Given the description of an element on the screen output the (x, y) to click on. 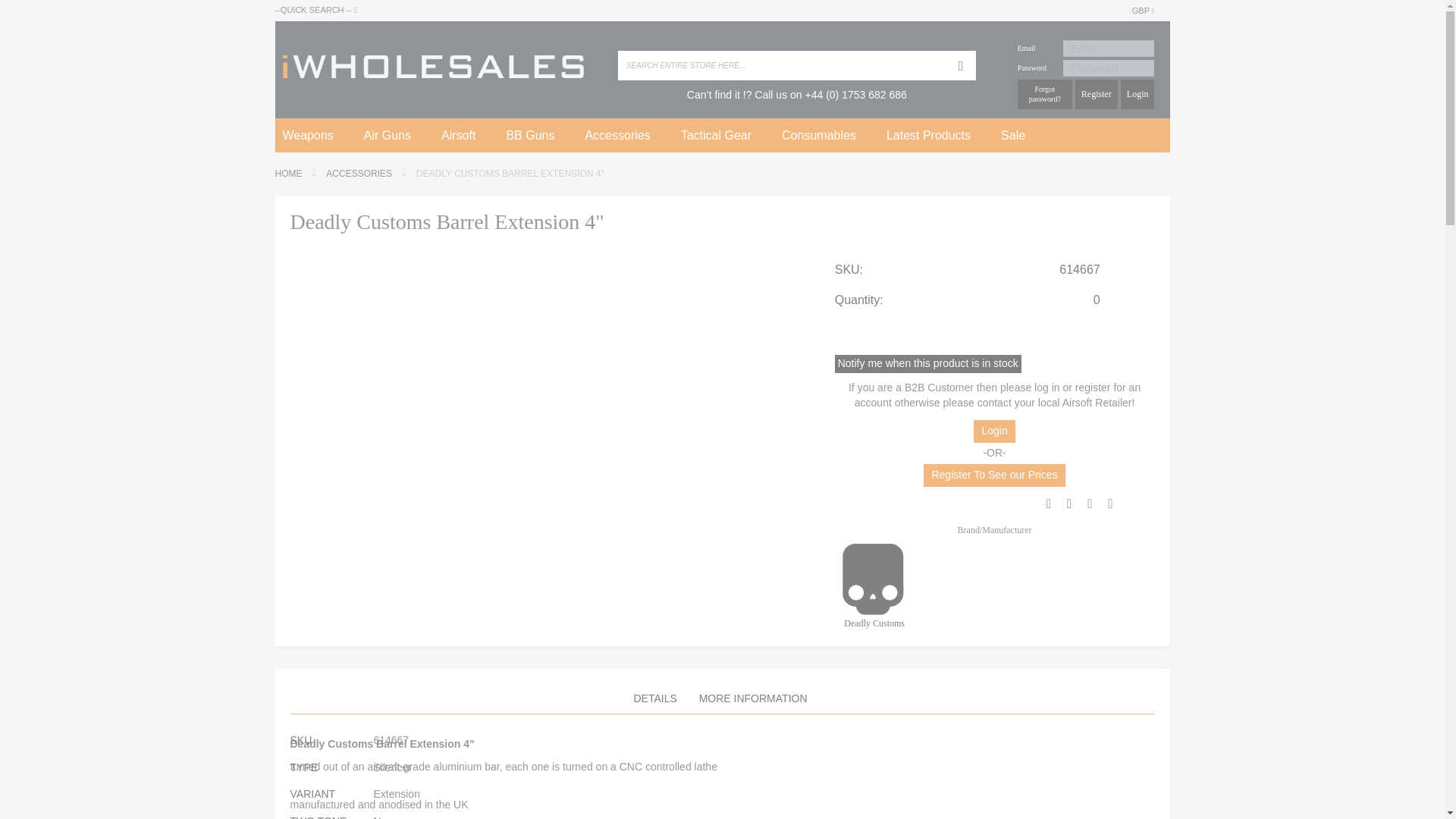
Deadly Customs (872, 578)
SEARCH (960, 65)
Forgot password? (1044, 93)
Email (1108, 48)
Deadly Customs (874, 615)
Password (1108, 67)
Register (1096, 93)
Login (1137, 93)
Notify me when this product is in stock (927, 363)
Search (960, 65)
Go to Home Page (289, 173)
